Given the description of an element on the screen output the (x, y) to click on. 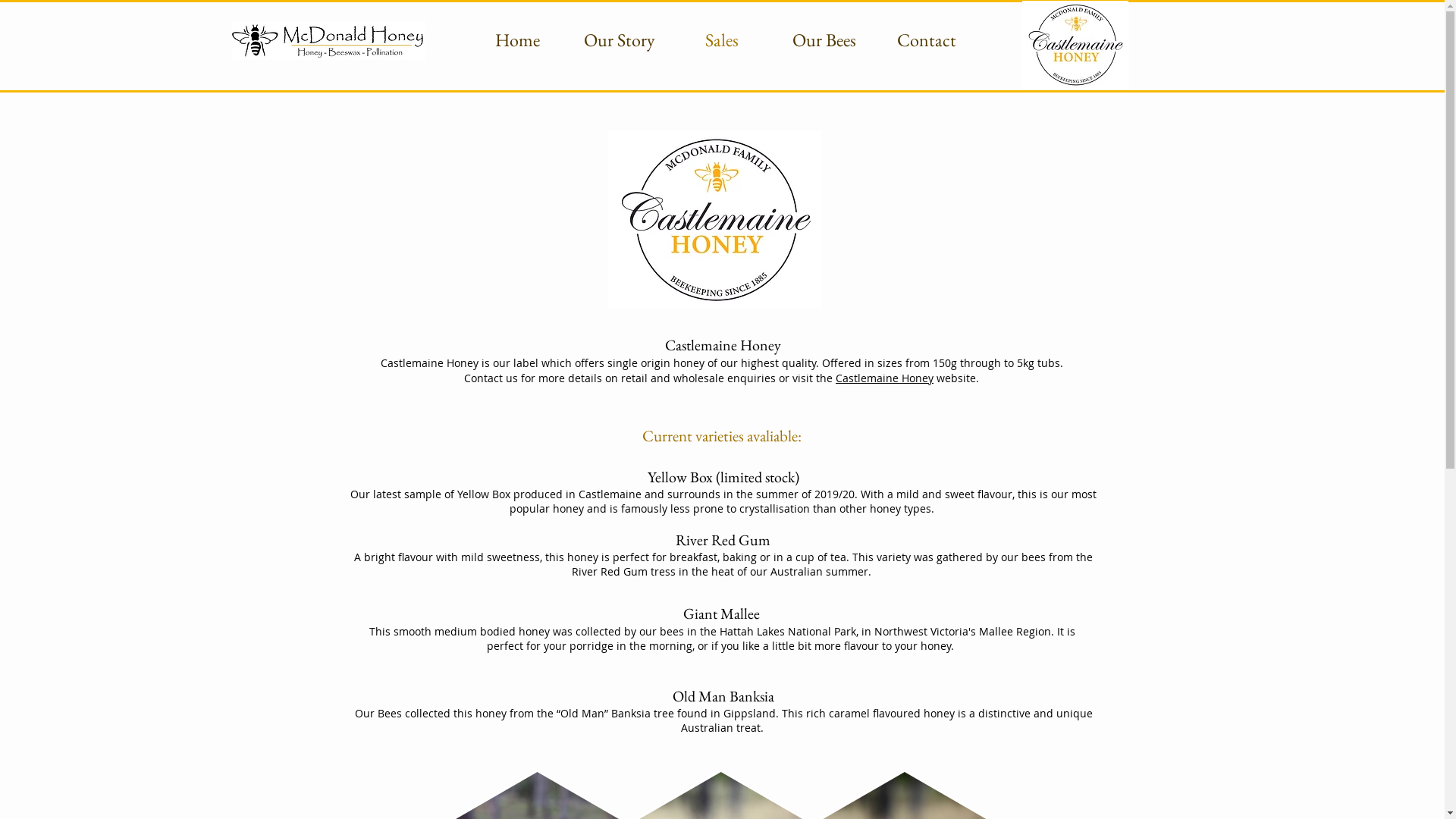
Castlemaine Honey Element type: text (884, 377)
Sales Element type: text (721, 40)
Our Bees Element type: text (824, 40)
McDonald Honey Logo.jpg Element type: hover (328, 40)
Our Story Element type: text (619, 40)
Contact Element type: text (926, 40)
Home Element type: text (516, 40)
